Given the description of an element on the screen output the (x, y) to click on. 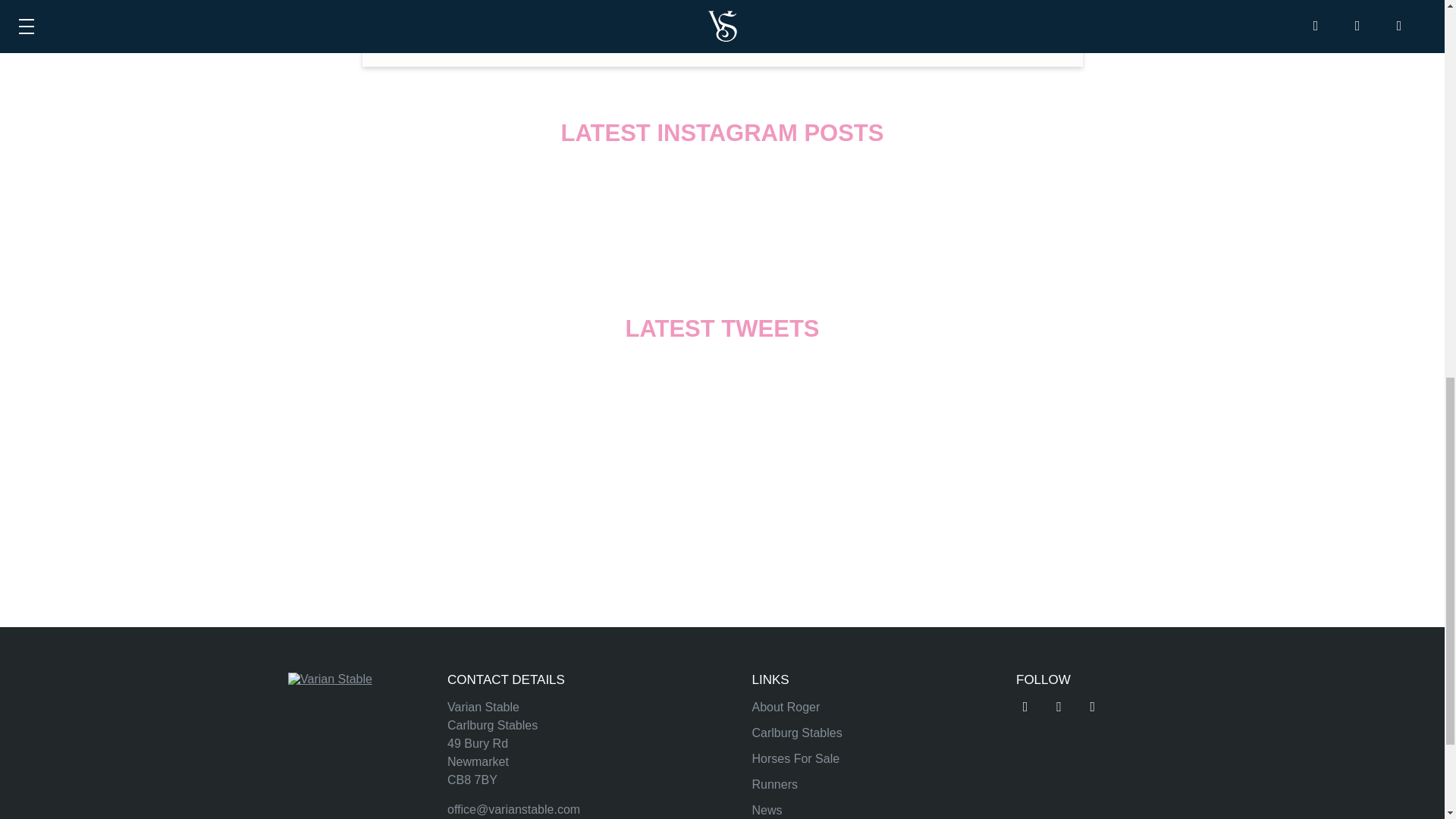
MORE NEWS (722, 5)
Horses For Sale (796, 758)
About Roger (786, 707)
News (767, 809)
Runners (774, 784)
Carlburg Stables (797, 732)
